Given the description of an element on the screen output the (x, y) to click on. 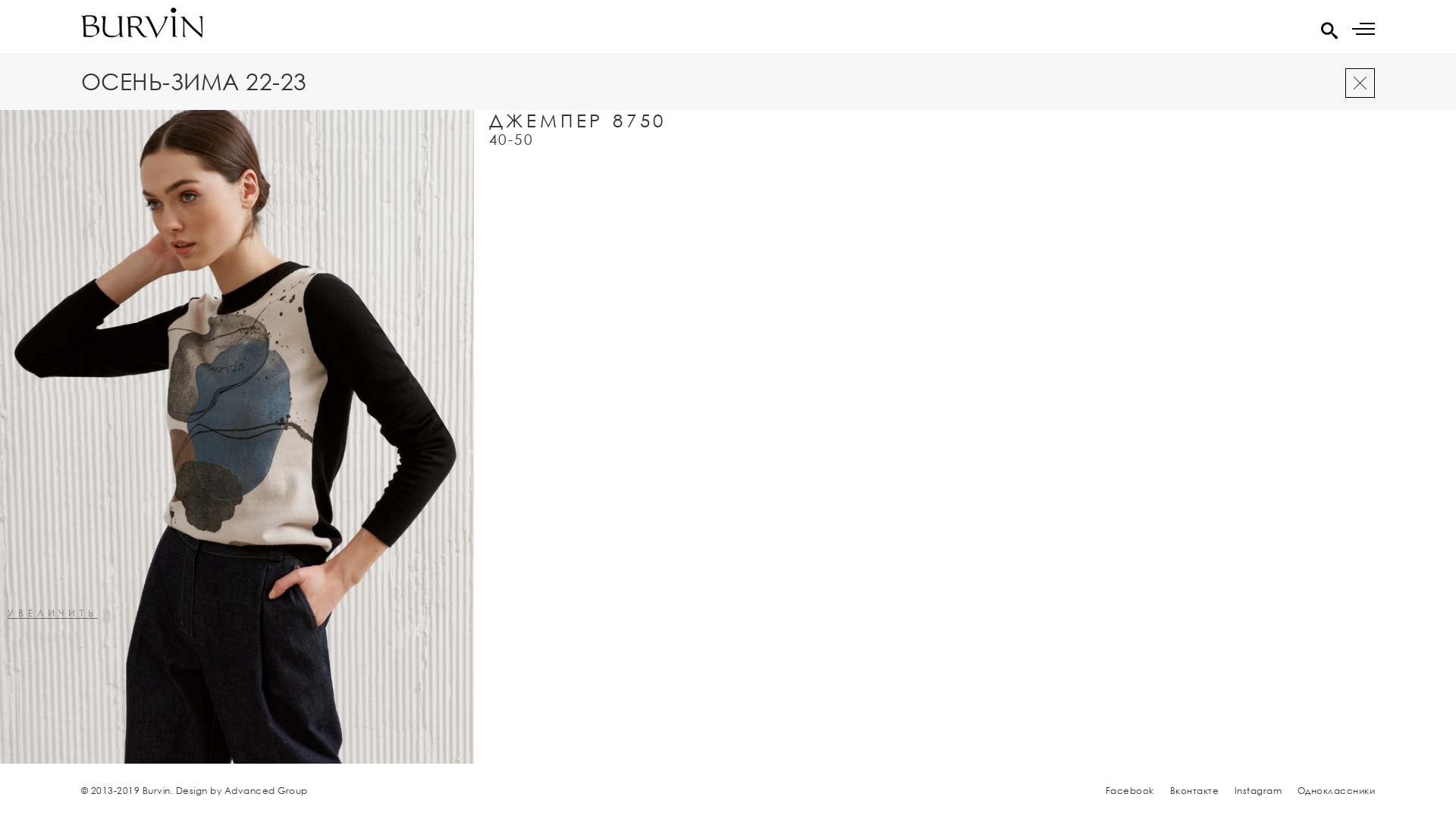
Facebook Element type: text (1129, 790)
Advanced Group Element type: text (265, 790)
Instagram Element type: text (1258, 790)
